Given the description of an element on the screen output the (x, y) to click on. 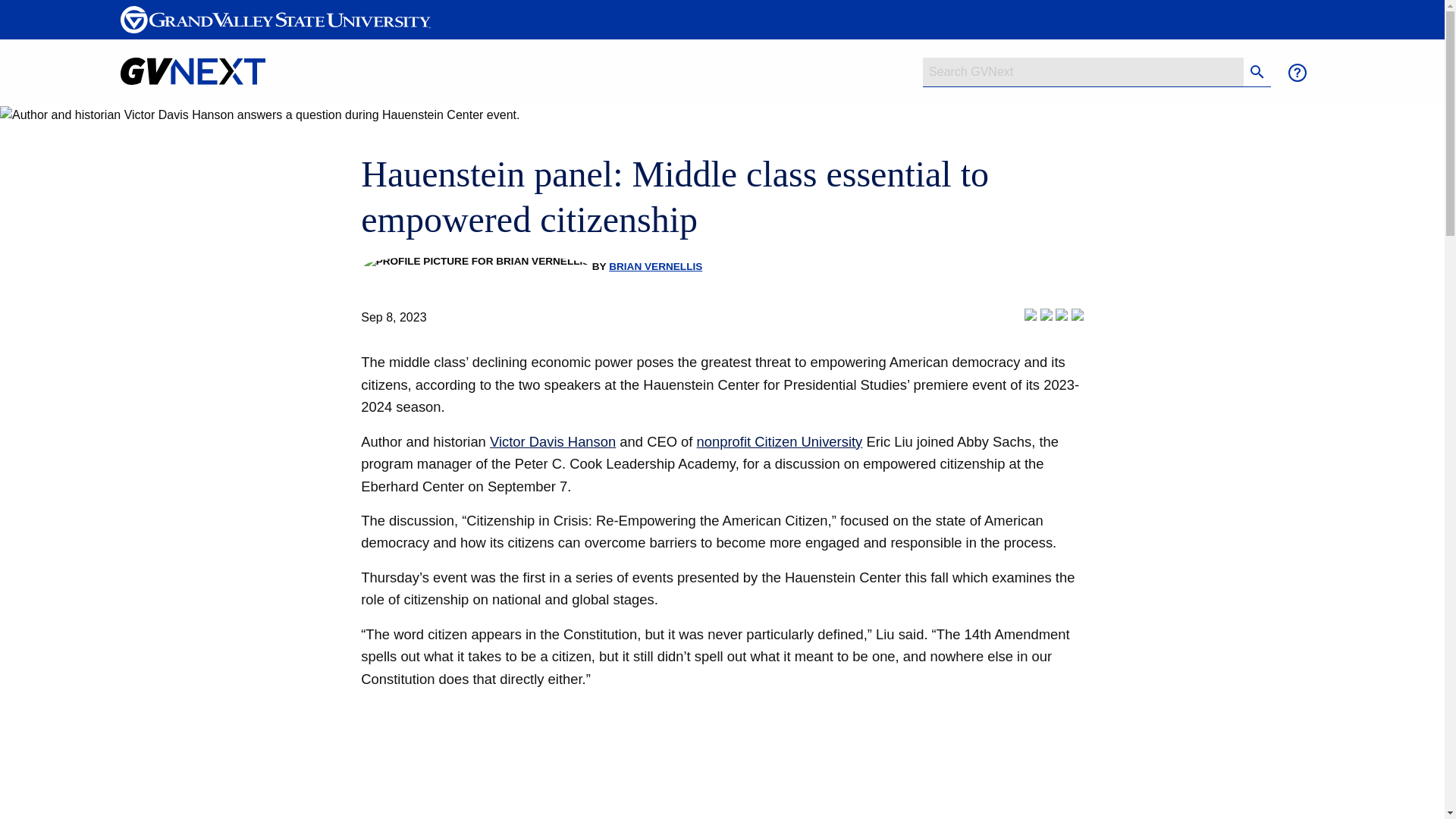
nonprofit Citizen University (780, 441)
Victor Davis Hanson (552, 441)
BRIAN VERNELLIS (654, 266)
